Given the description of an element on the screen output the (x, y) to click on. 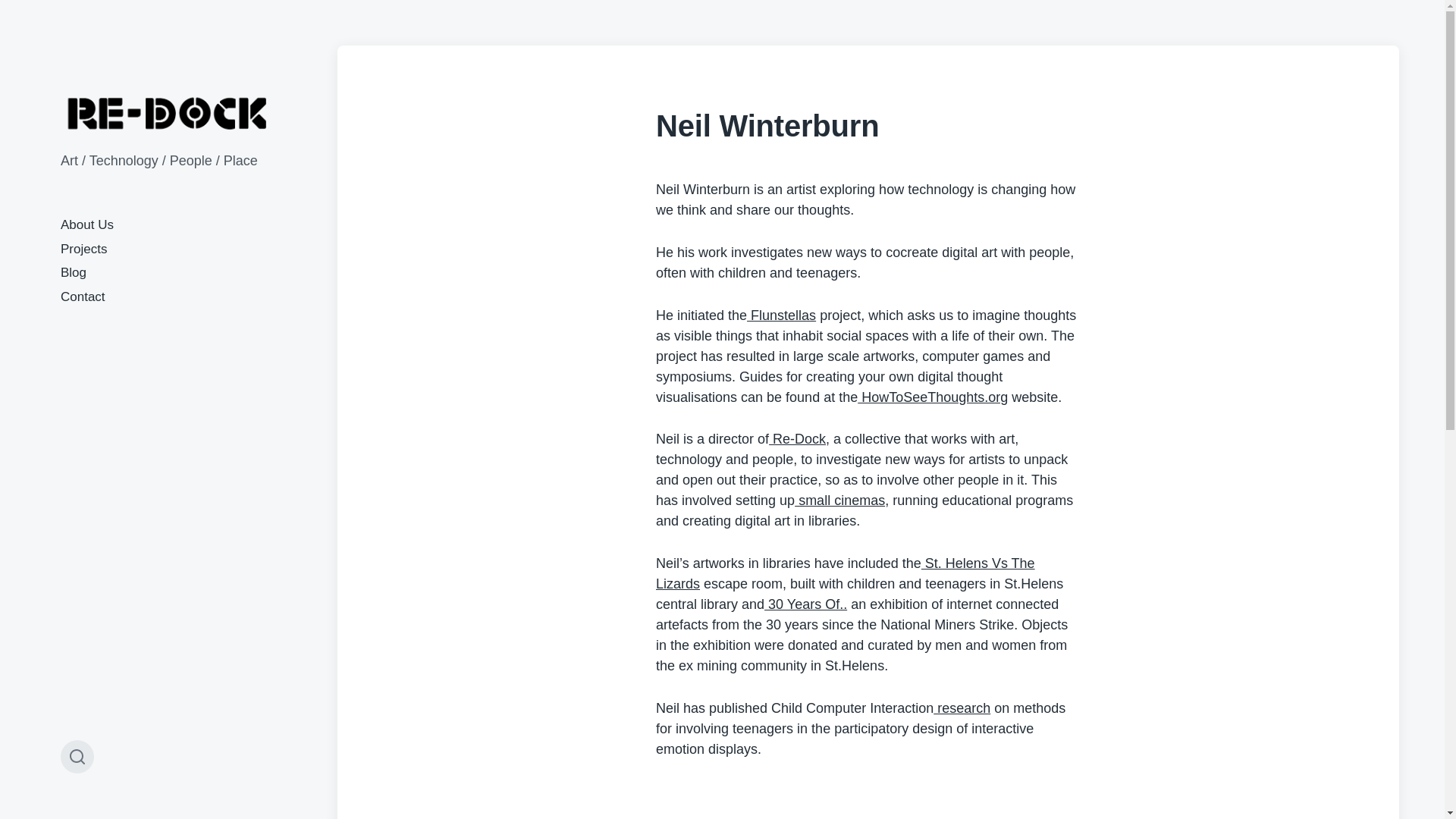
Re-Dock (168, 112)
small cinemas (839, 500)
Contact (82, 296)
HowToSeeThoughts.org (932, 396)
Blog (73, 272)
research (961, 708)
Projects (83, 248)
St. Helens Vs The Lizards (845, 573)
About Us (87, 224)
Re-Dock (796, 438)
